Given the description of an element on the screen output the (x, y) to click on. 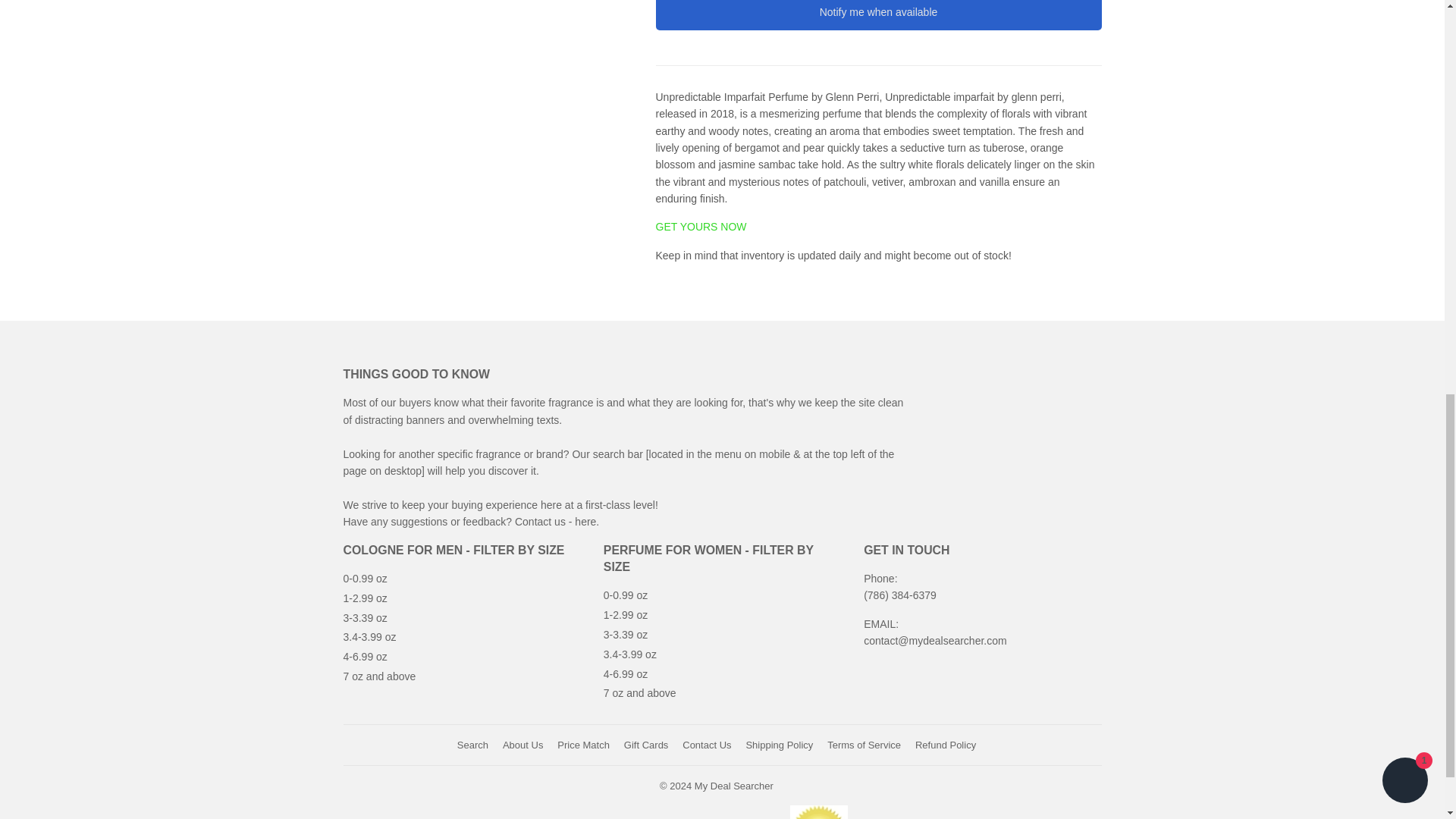
Contact (586, 521)
